Given the description of an element on the screen output the (x, y) to click on. 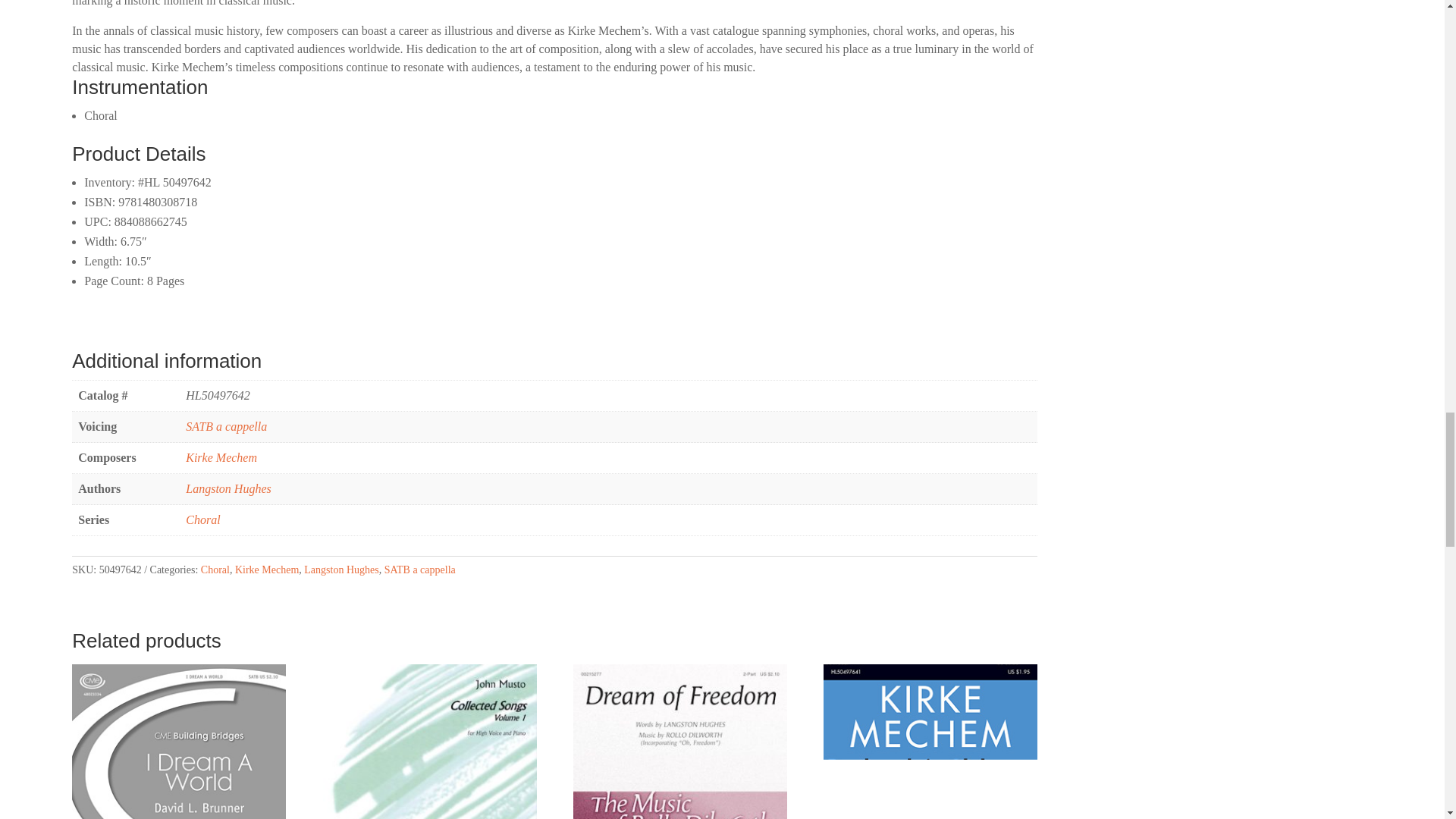
Choral (215, 569)
Choral (202, 519)
Kirke Mechem (266, 569)
SATB a cappella (226, 426)
Kirke Mechem (221, 457)
Langston Hughes (341, 569)
Langston Hughes (228, 488)
SATB a cappella (419, 569)
